Given the description of an element on the screen output the (x, y) to click on. 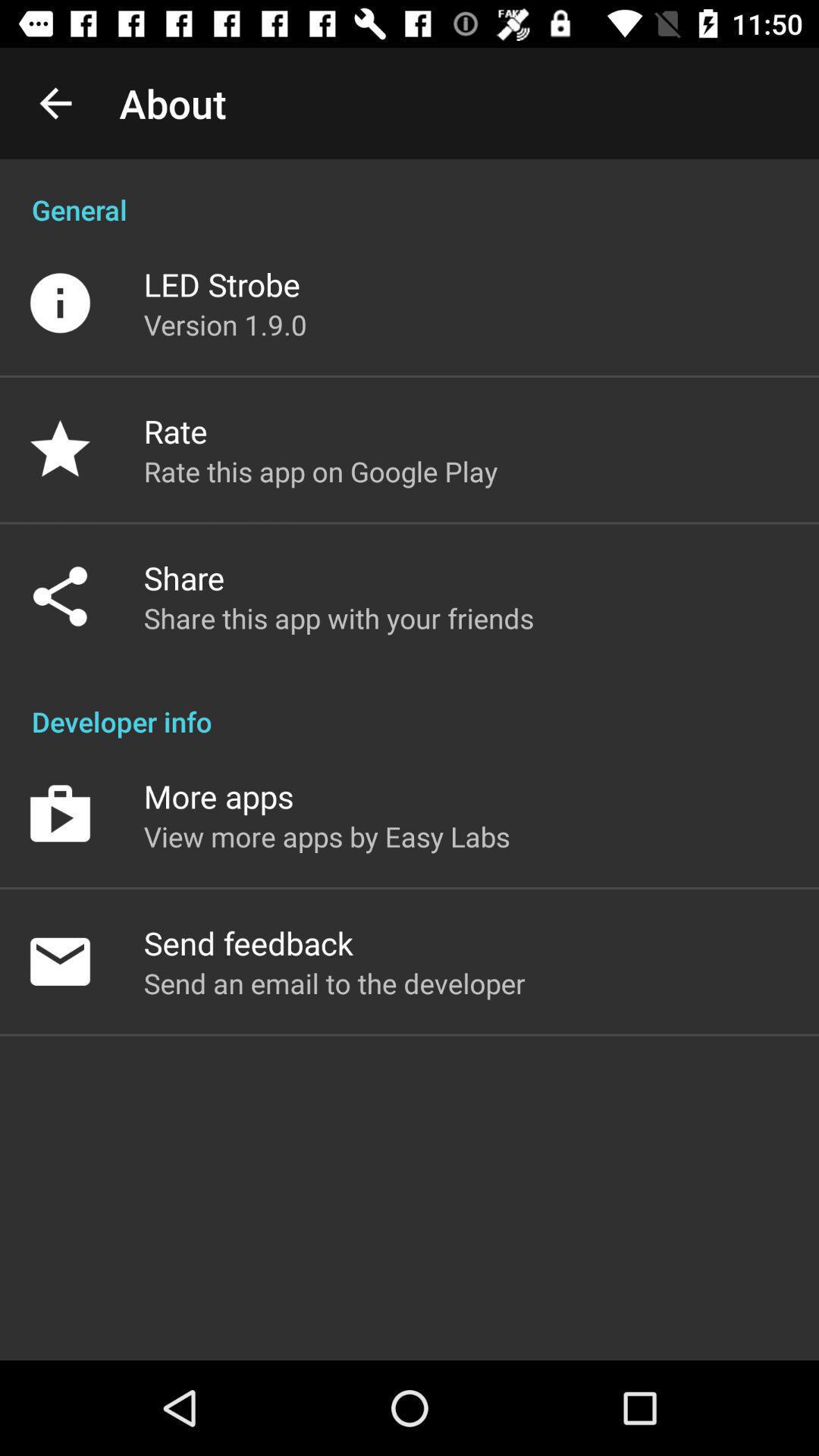
go back (55, 103)
